Given the description of an element on the screen output the (x, y) to click on. 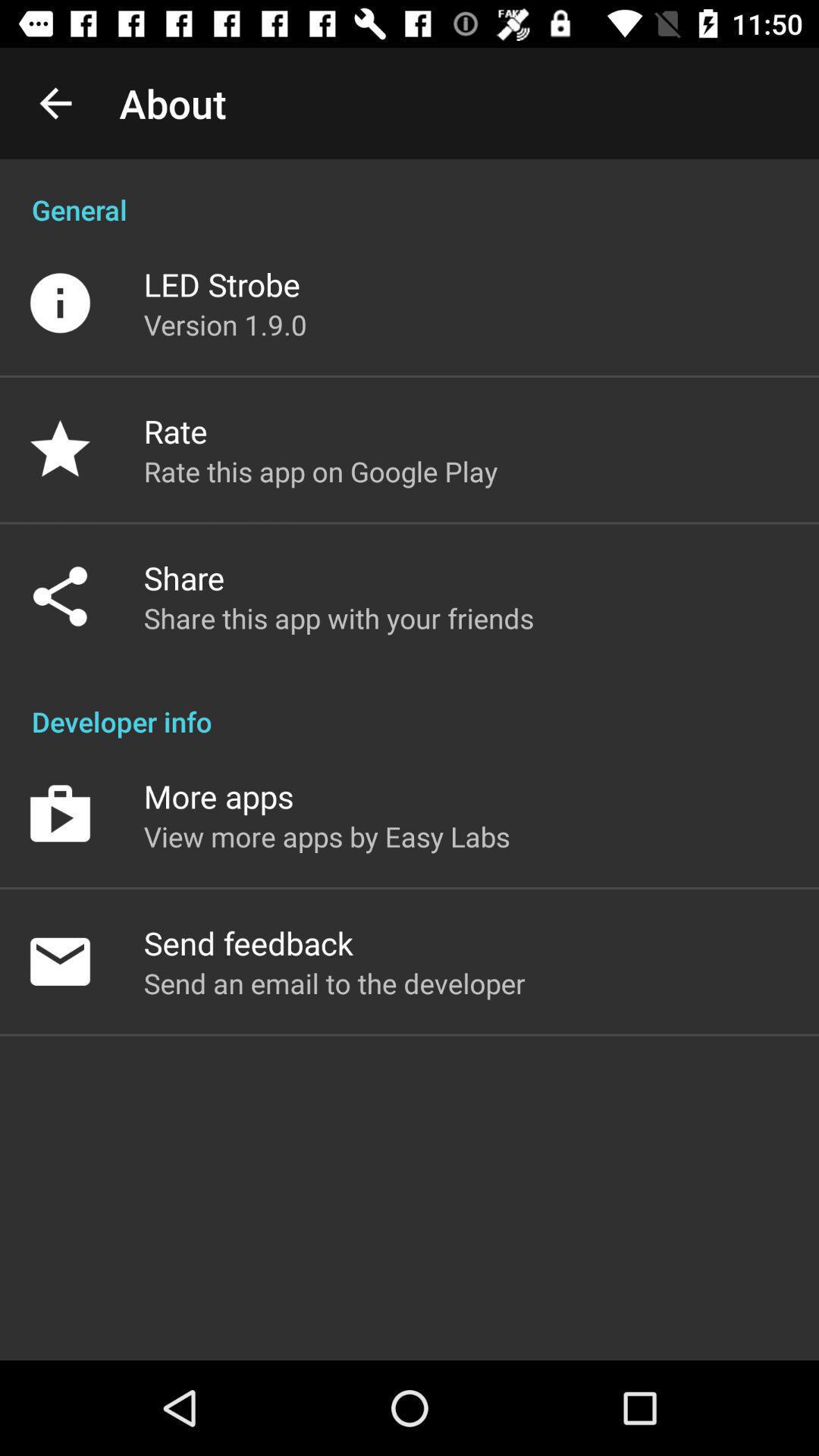
go back (55, 103)
